Given the description of an element on the screen output the (x, y) to click on. 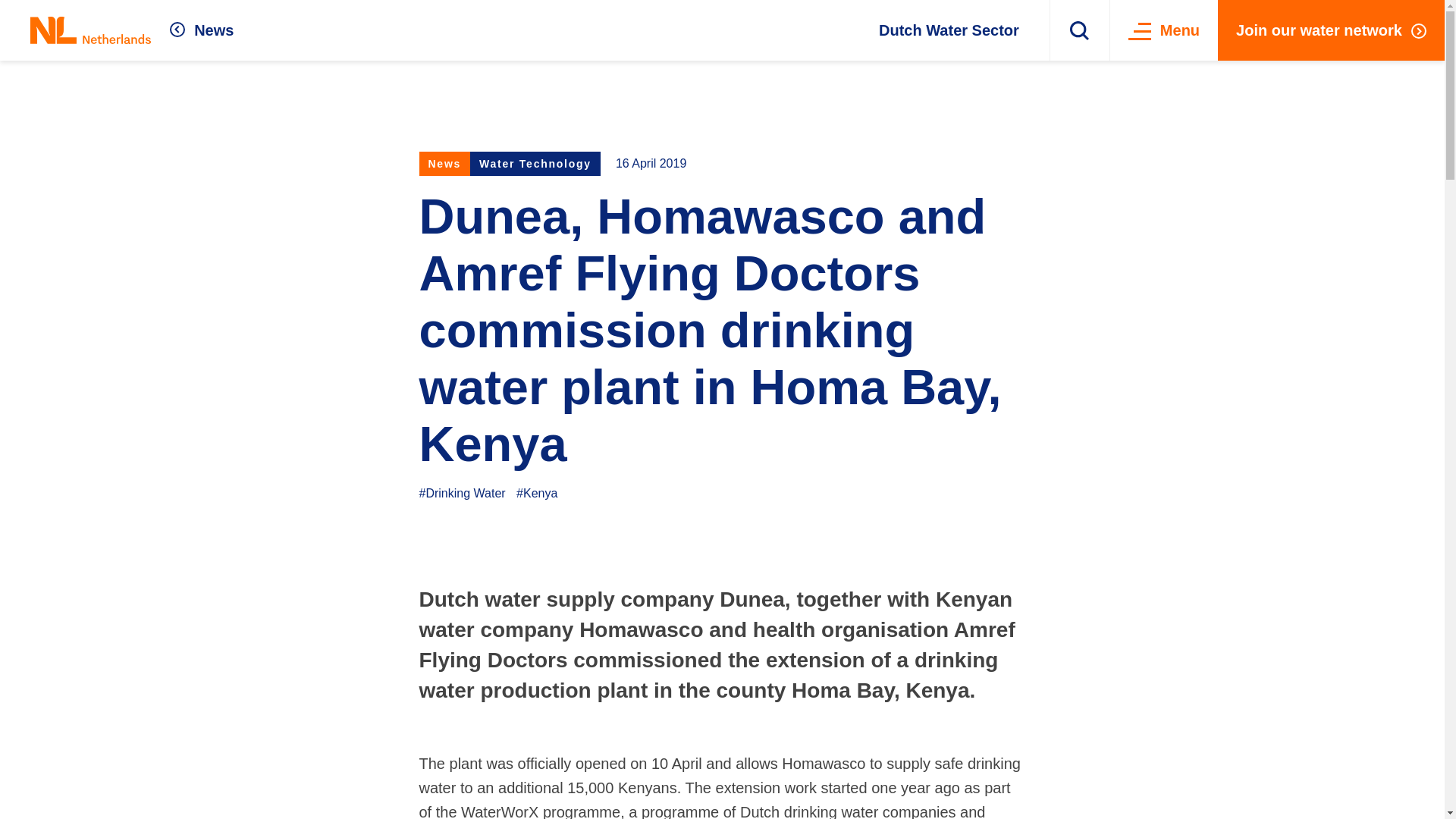
Dutch Water Sector (949, 30)
Water Technology (534, 163)
News (201, 30)
